Given the description of an element on the screen output the (x, y) to click on. 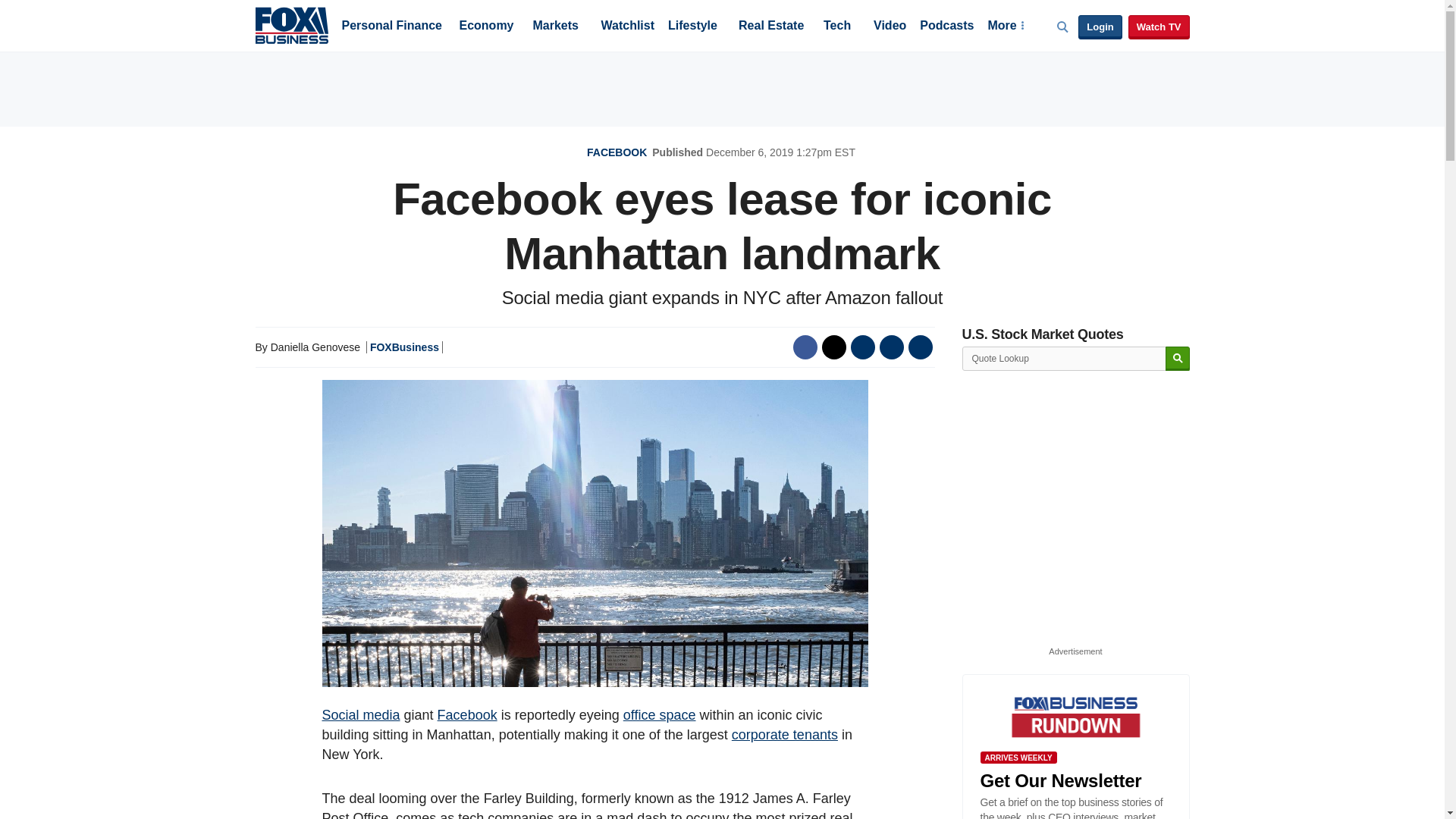
More (1005, 27)
Video (889, 27)
Markets (555, 27)
Podcasts (947, 27)
Search (1176, 358)
Real Estate (770, 27)
Fox Business (290, 24)
Watchlist (626, 27)
Login (1099, 27)
Personal Finance (391, 27)
